Given the description of an element on the screen output the (x, y) to click on. 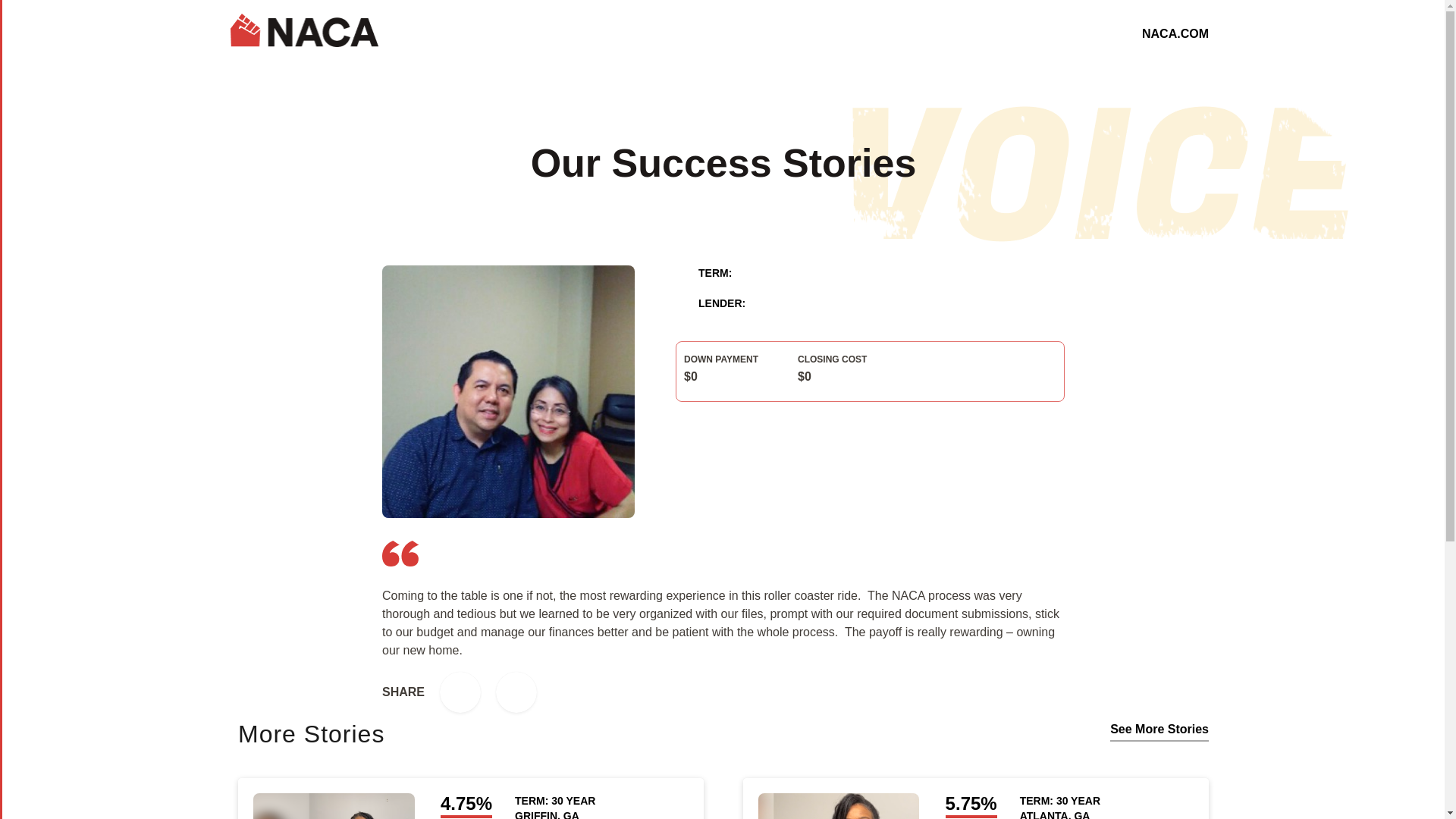
NACA (304, 30)
NACA.COM (1174, 33)
See More Stories (1158, 732)
